Given the description of an element on the screen output the (x, y) to click on. 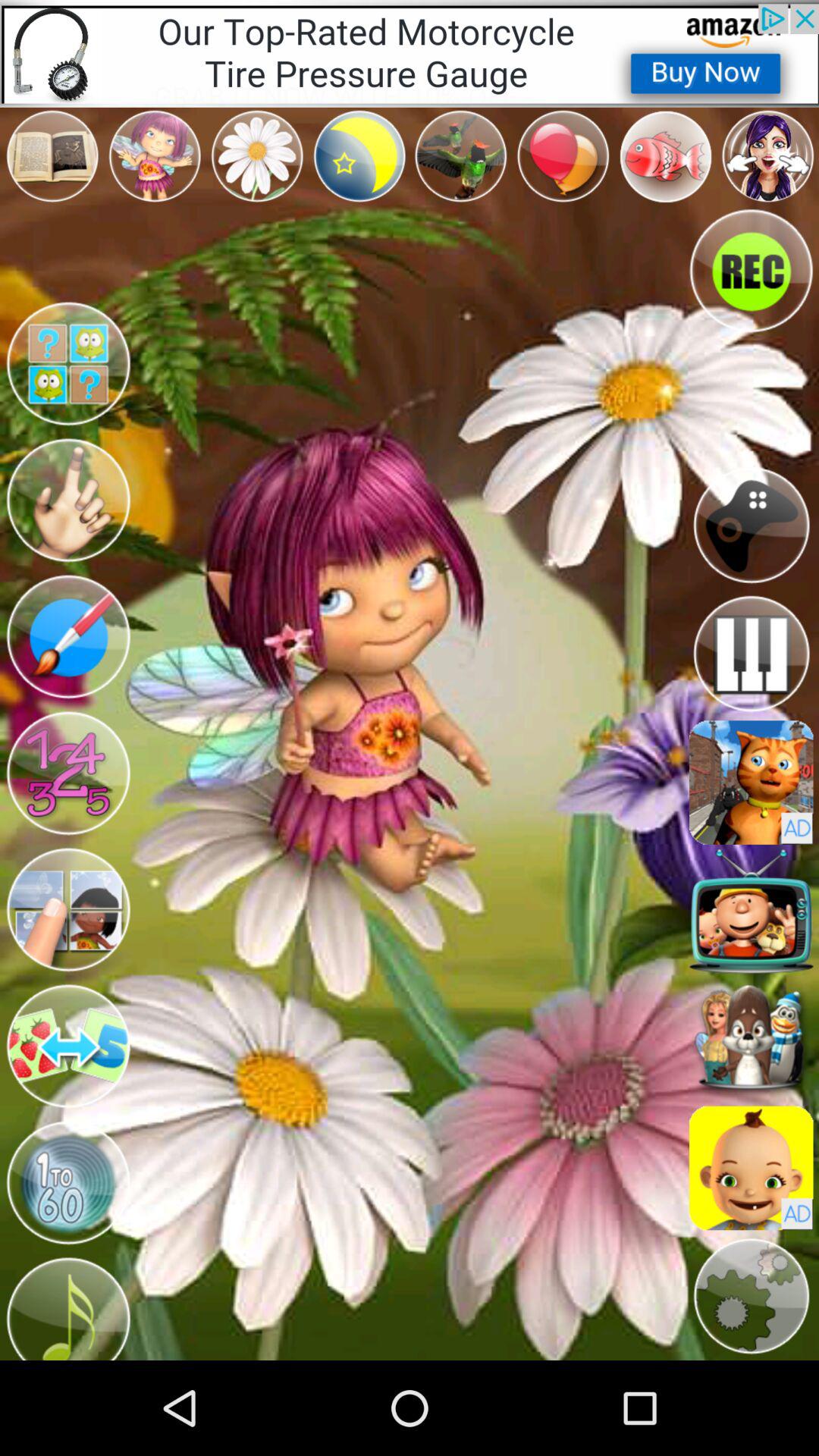
advertisement (751, 782)
